Given the description of an element on the screen output the (x, y) to click on. 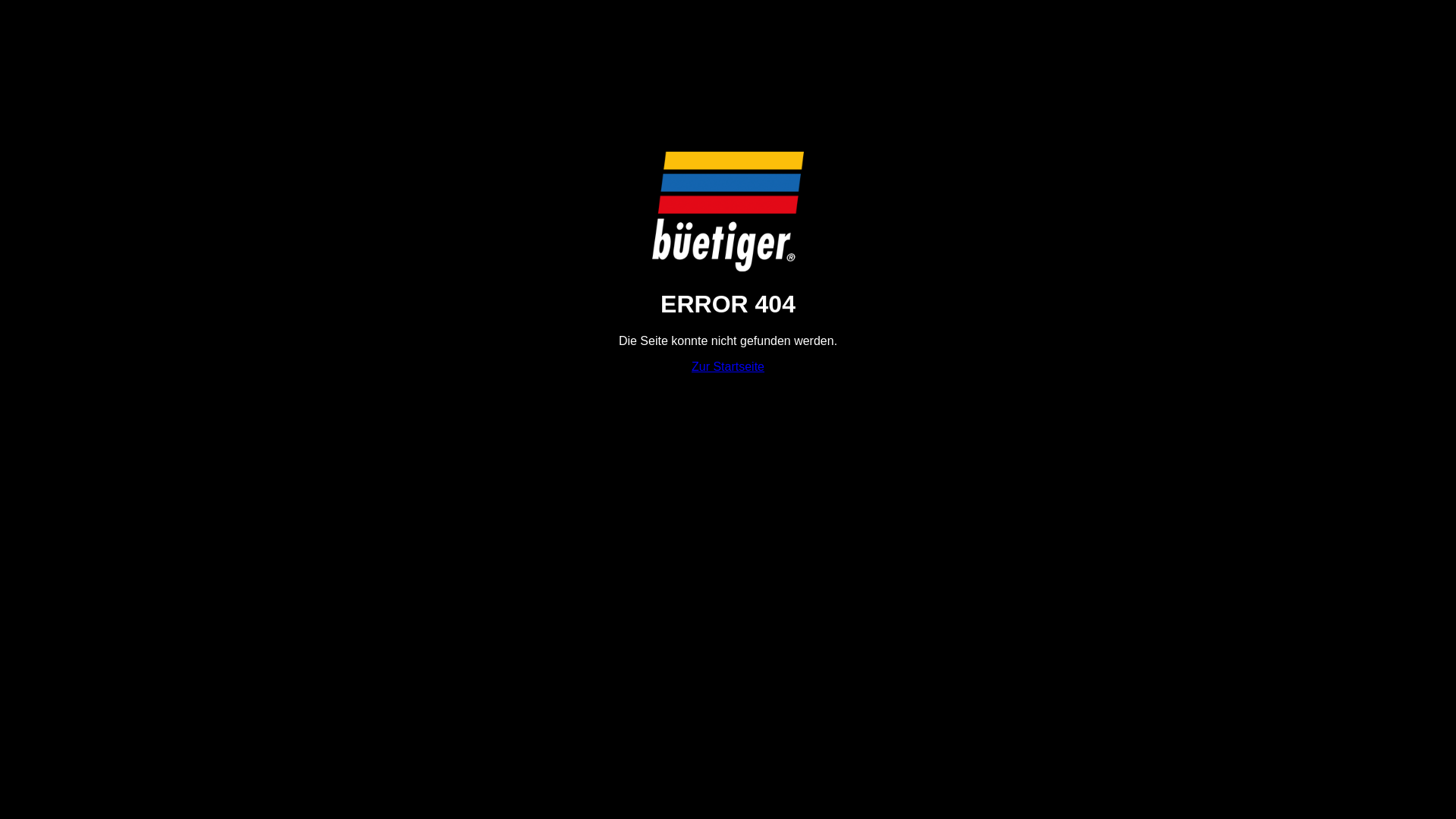
Zur Startseite Element type: text (727, 366)
